Given the description of an element on the screen output the (x, y) to click on. 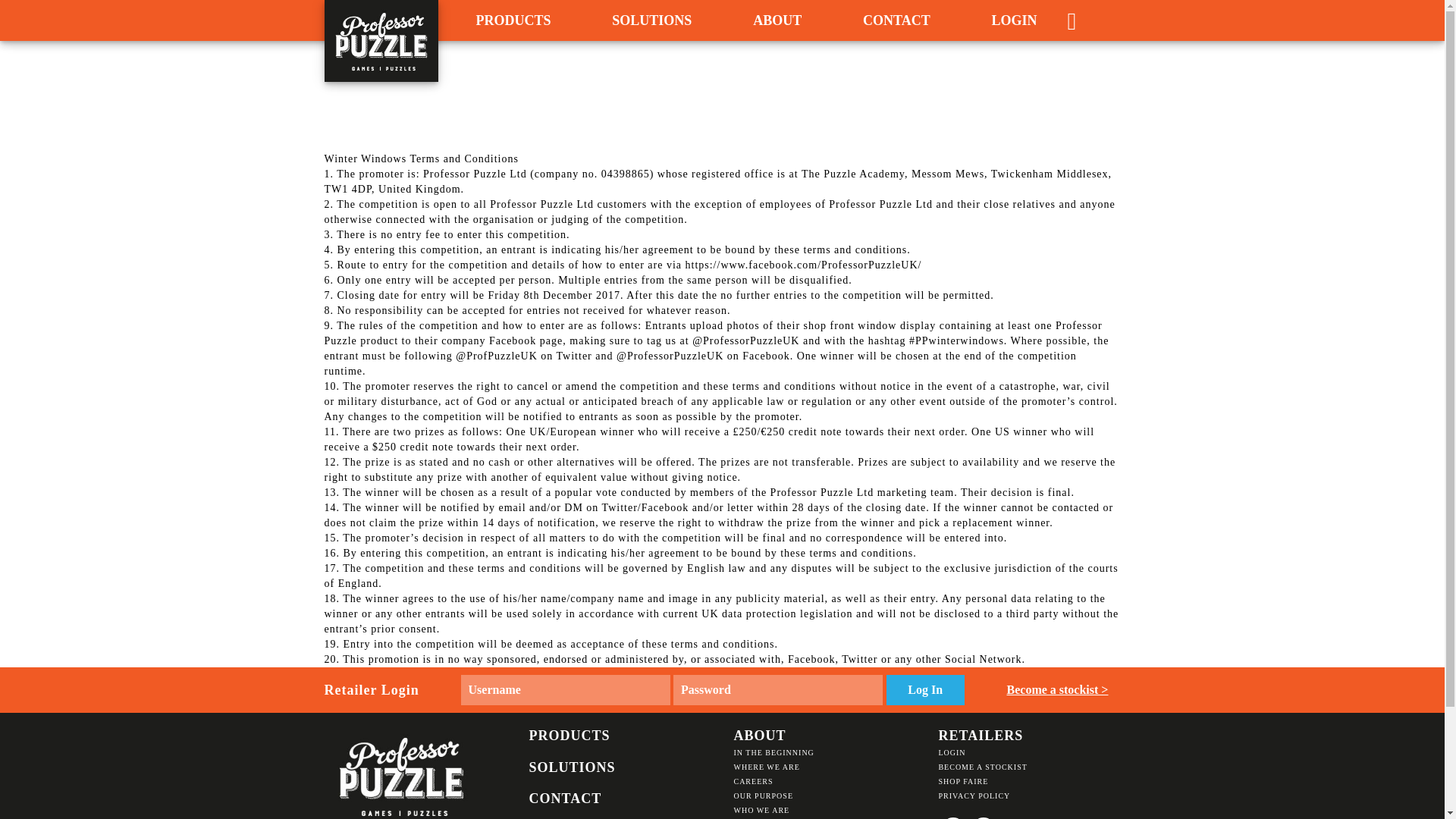
CONTACT (895, 20)
ABOUT (777, 20)
PRODUCTS (513, 20)
Log In (924, 689)
SOLUTIONS (651, 20)
LOGIN (1013, 20)
